Given the description of an element on the screen output the (x, y) to click on. 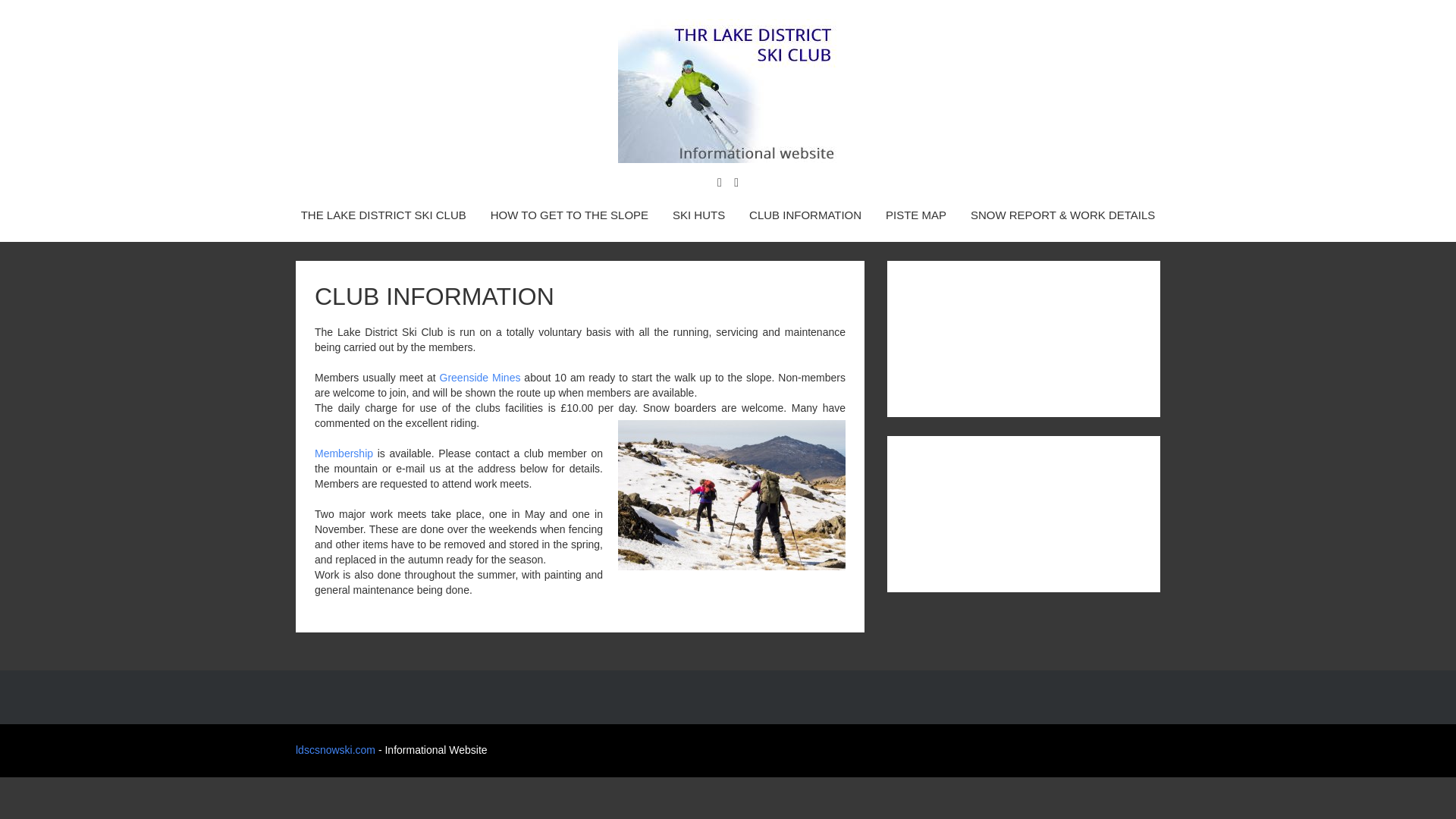
CLUB INFORMATION (805, 214)
ldscsnowski.com (335, 749)
THE LAKE DISTRICT SKI CLUB (383, 214)
HOW TO GET TO THE SLOPE (568, 214)
PISTE MAP (915, 214)
SKI HUTS (698, 214)
Greenside Mines (480, 377)
Membership (343, 453)
